Given the description of an element on the screen output the (x, y) to click on. 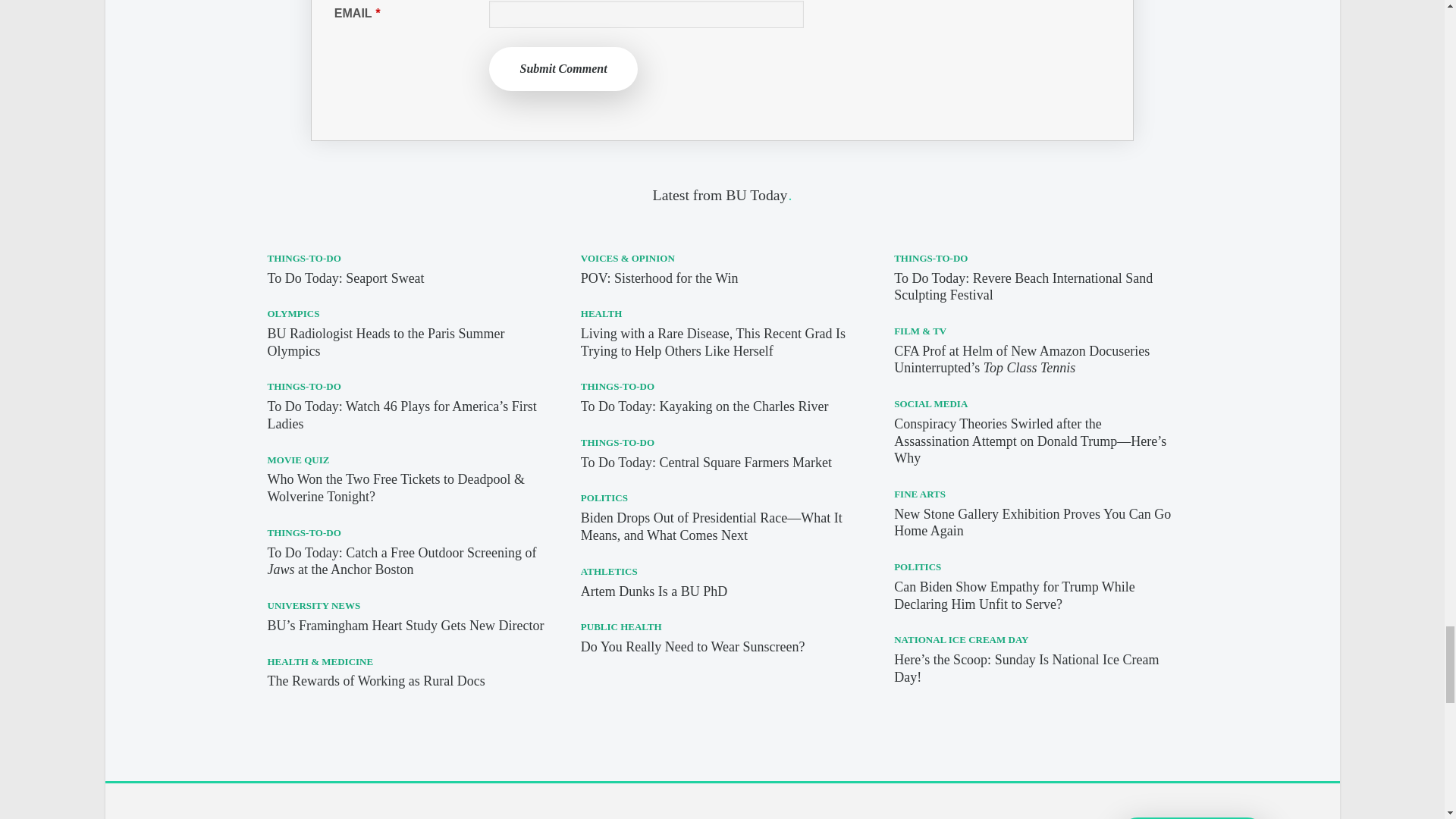
Navigate to: Must Reads (291, 811)
Navigate to: Close-ups (533, 811)
Navigate to: Series (450, 811)
Navigate to: Archives (627, 811)
Navigate to: Sections (191, 811)
Navigate to: Videos (380, 811)
